Given the description of an element on the screen output the (x, y) to click on. 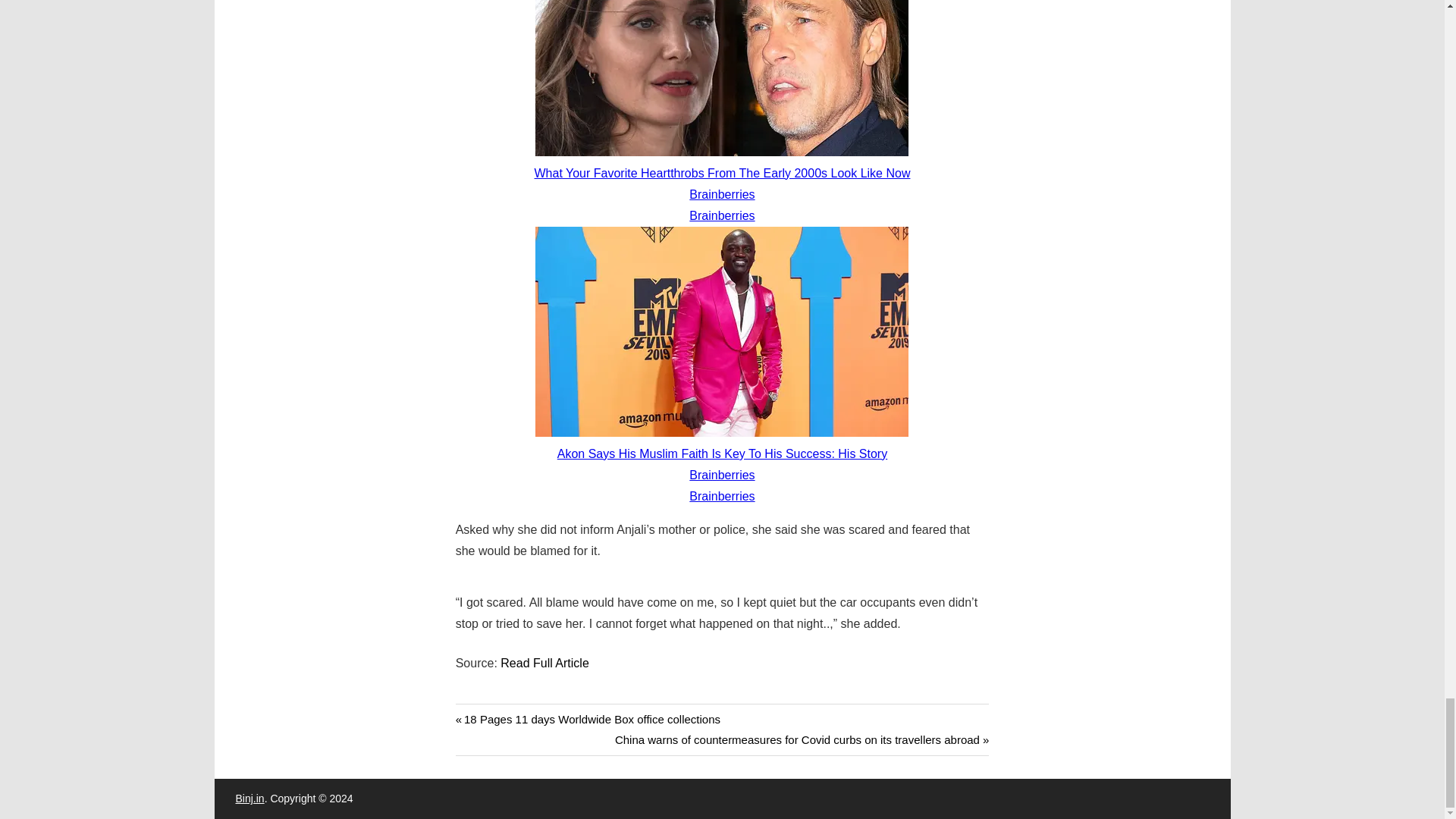
Read Full Article (544, 662)
